Given the description of an element on the screen output the (x, y) to click on. 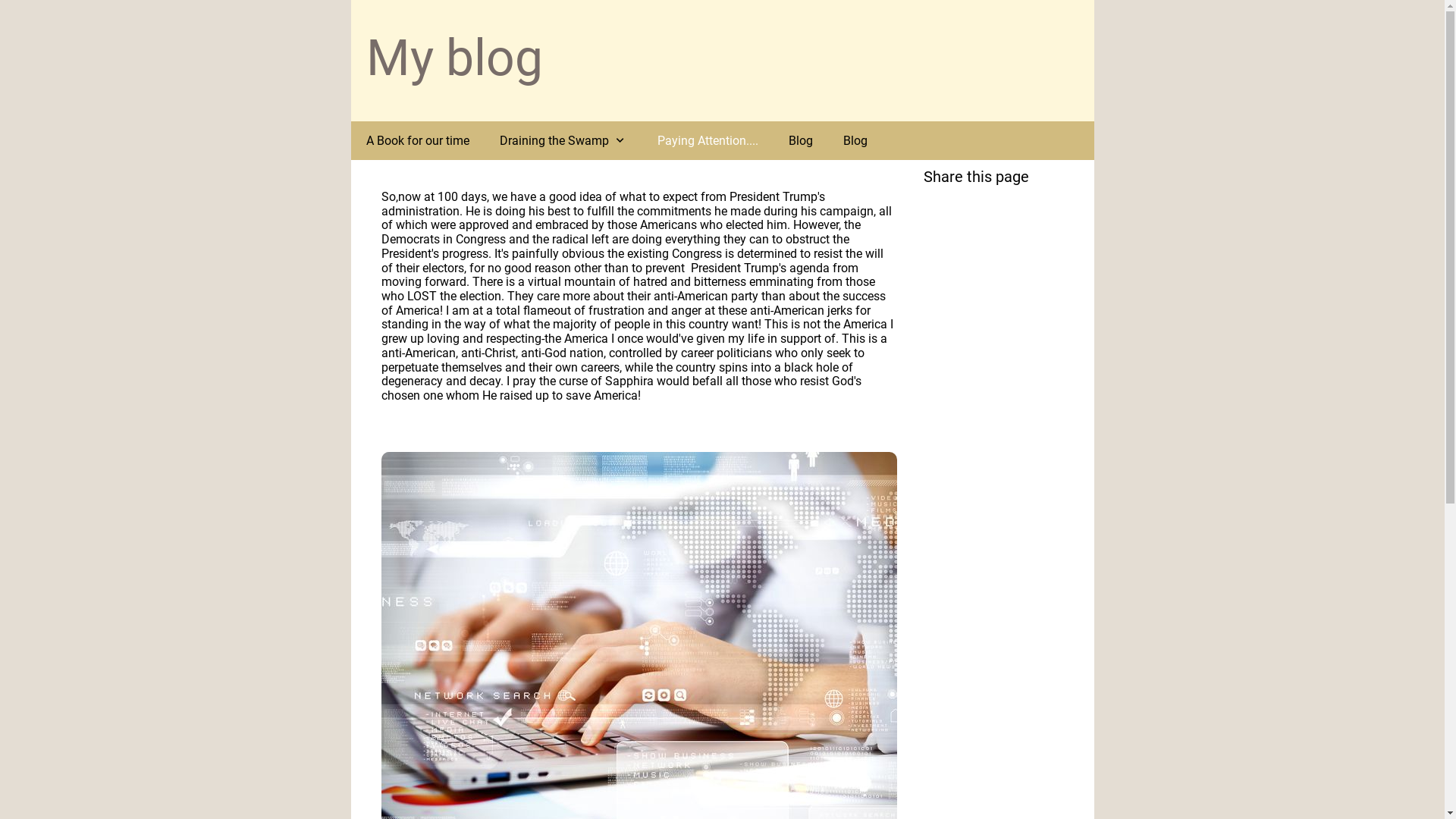
Paying Attention.... Element type: text (707, 140)
My blog Element type: text (453, 57)
Blog Element type: text (855, 140)
Draining the Swamp Element type: text (562, 140)
Blog Element type: text (800, 140)
A Book for our time Element type: text (416, 140)
